Given the description of an element on the screen output the (x, y) to click on. 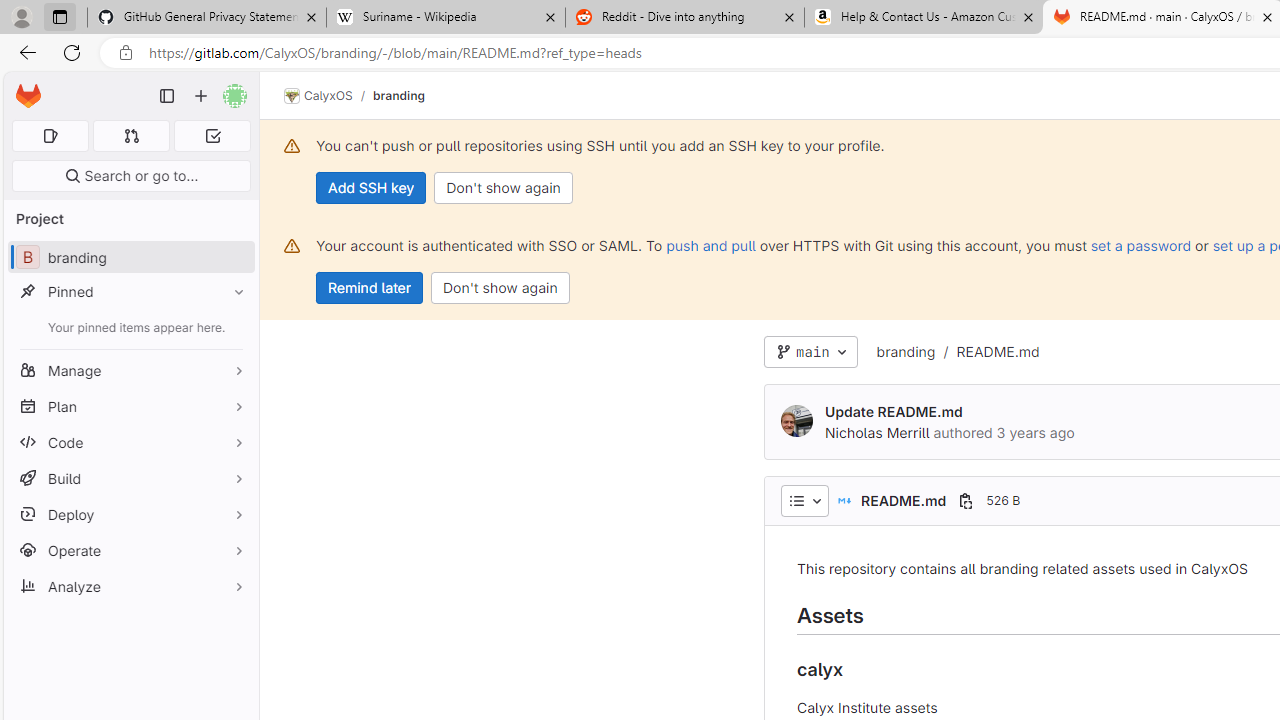
branding (905, 351)
B branding (130, 257)
Deploy (130, 514)
Update README.md (893, 411)
To-Do list 0 (212, 136)
